Given the description of an element on the screen output the (x, y) to click on. 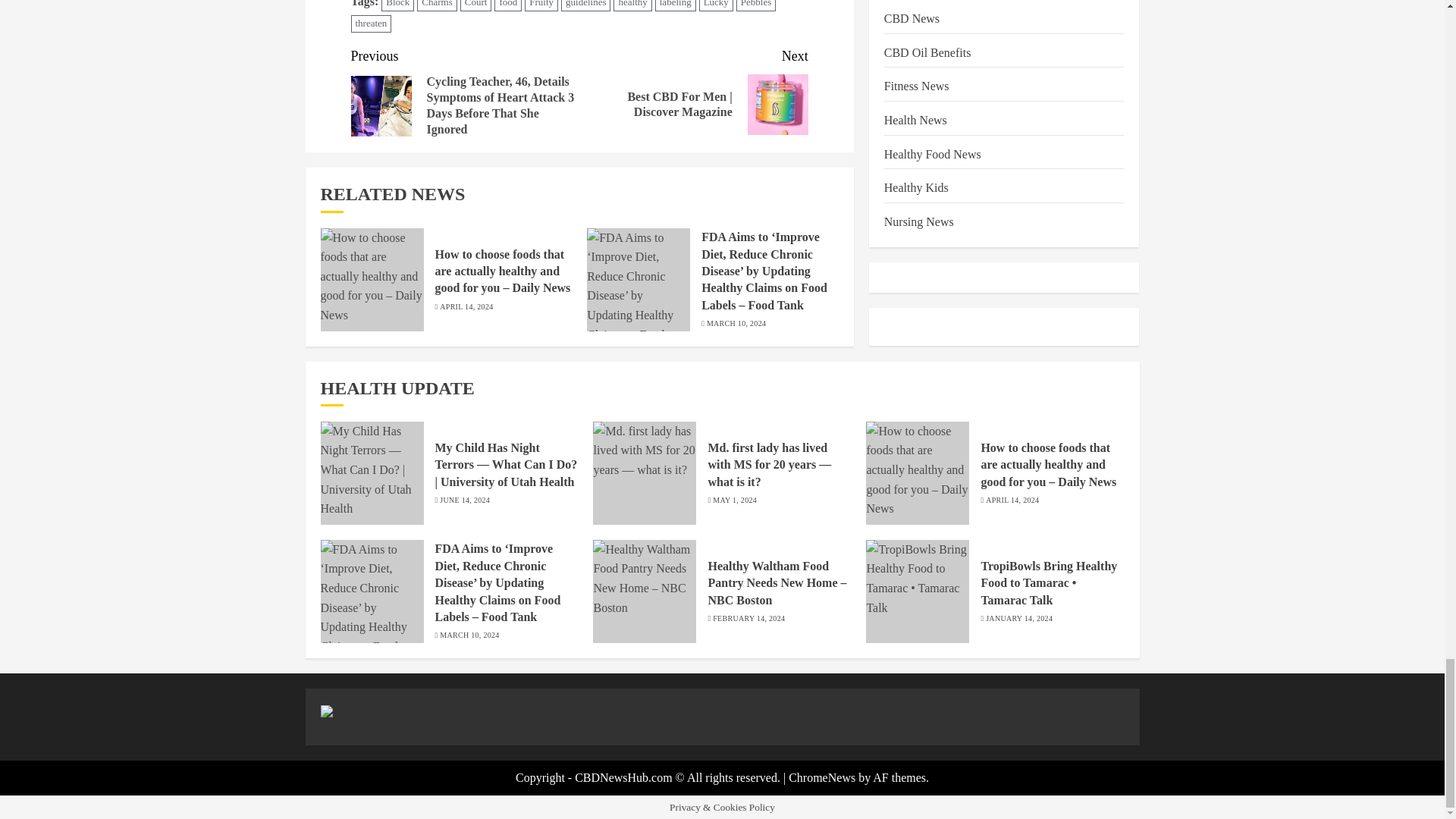
guidelines (585, 5)
Block (397, 5)
food (508, 5)
labeling (675, 5)
Fruity (540, 5)
Lucky (715, 5)
Court (476, 5)
healthy (631, 5)
Charms (436, 5)
